Given the description of an element on the screen output the (x, y) to click on. 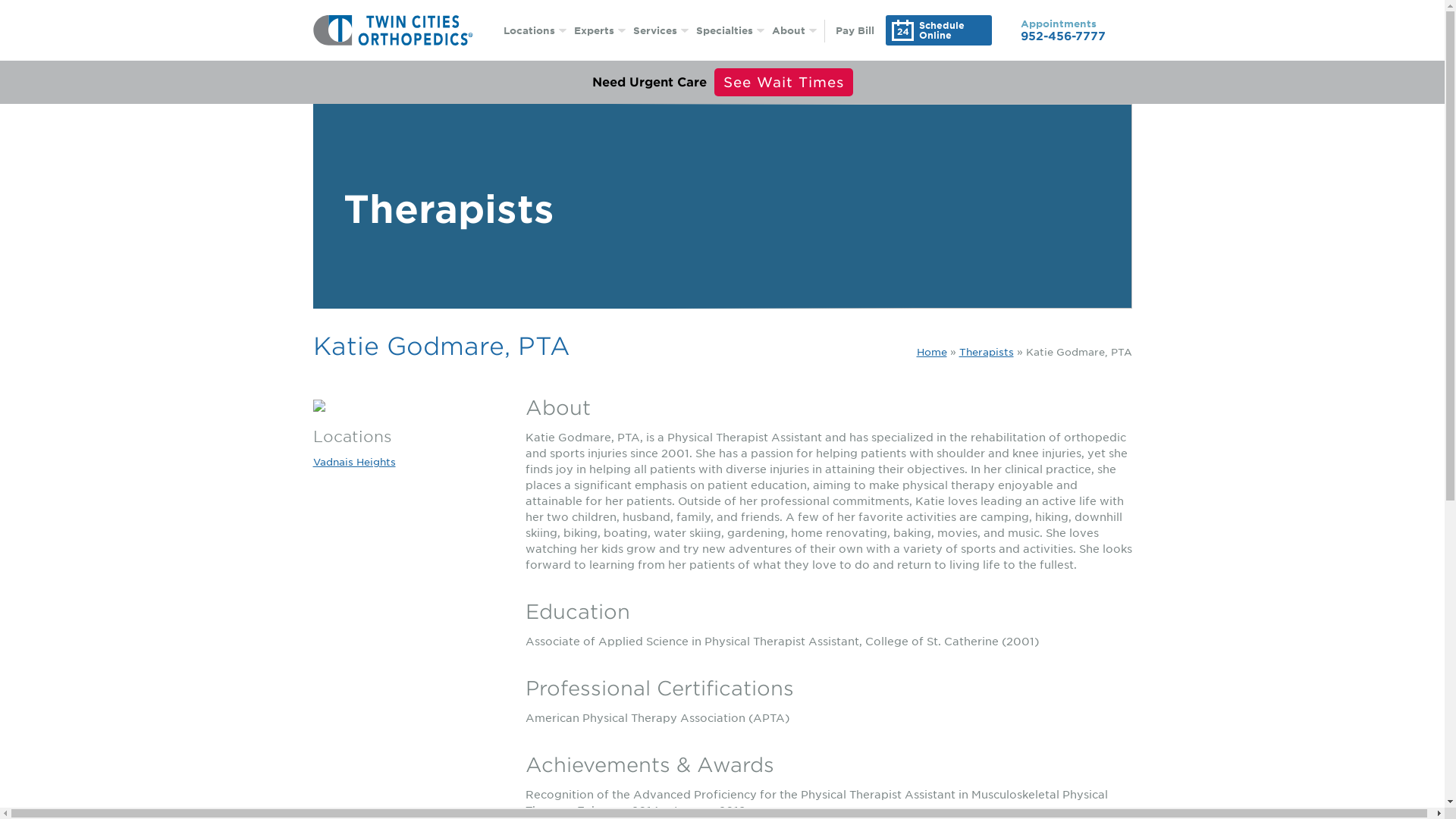
Specialties (729, 30)
Experts (598, 30)
952-456-7777 (1062, 36)
Locations (534, 30)
Services (659, 30)
